Given the description of an element on the screen output the (x, y) to click on. 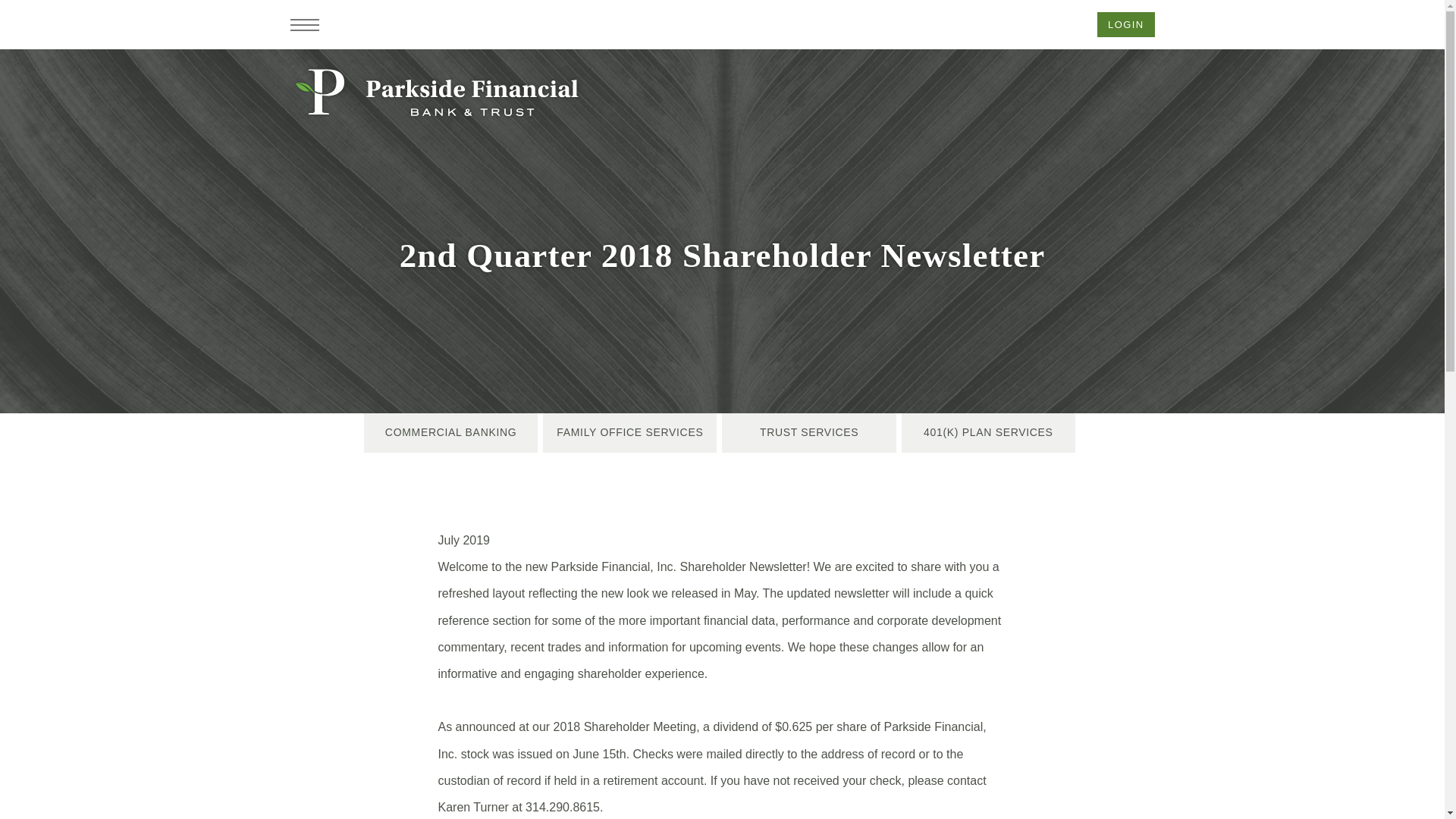
TRUST SERVICES (808, 432)
FAMILY OFFICE SERVICES (629, 432)
COMMERCIAL BANKING (450, 432)
Toggle navigation (303, 24)
LOGIN (1125, 24)
